Given the description of an element on the screen output the (x, y) to click on. 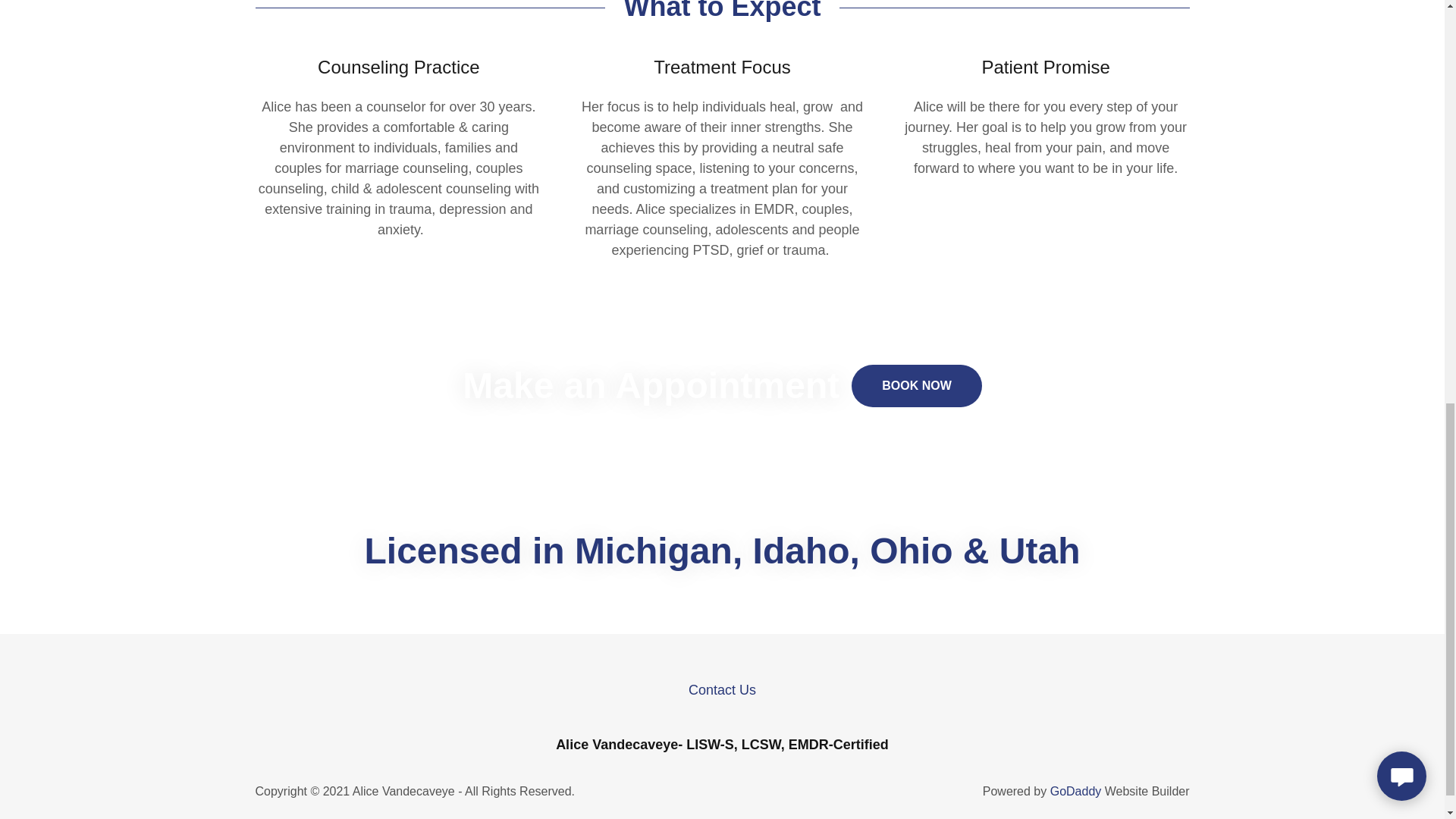
GoDaddy (1075, 790)
BOOK NOW (916, 385)
Contact Us (721, 690)
